Given the description of an element on the screen output the (x, y) to click on. 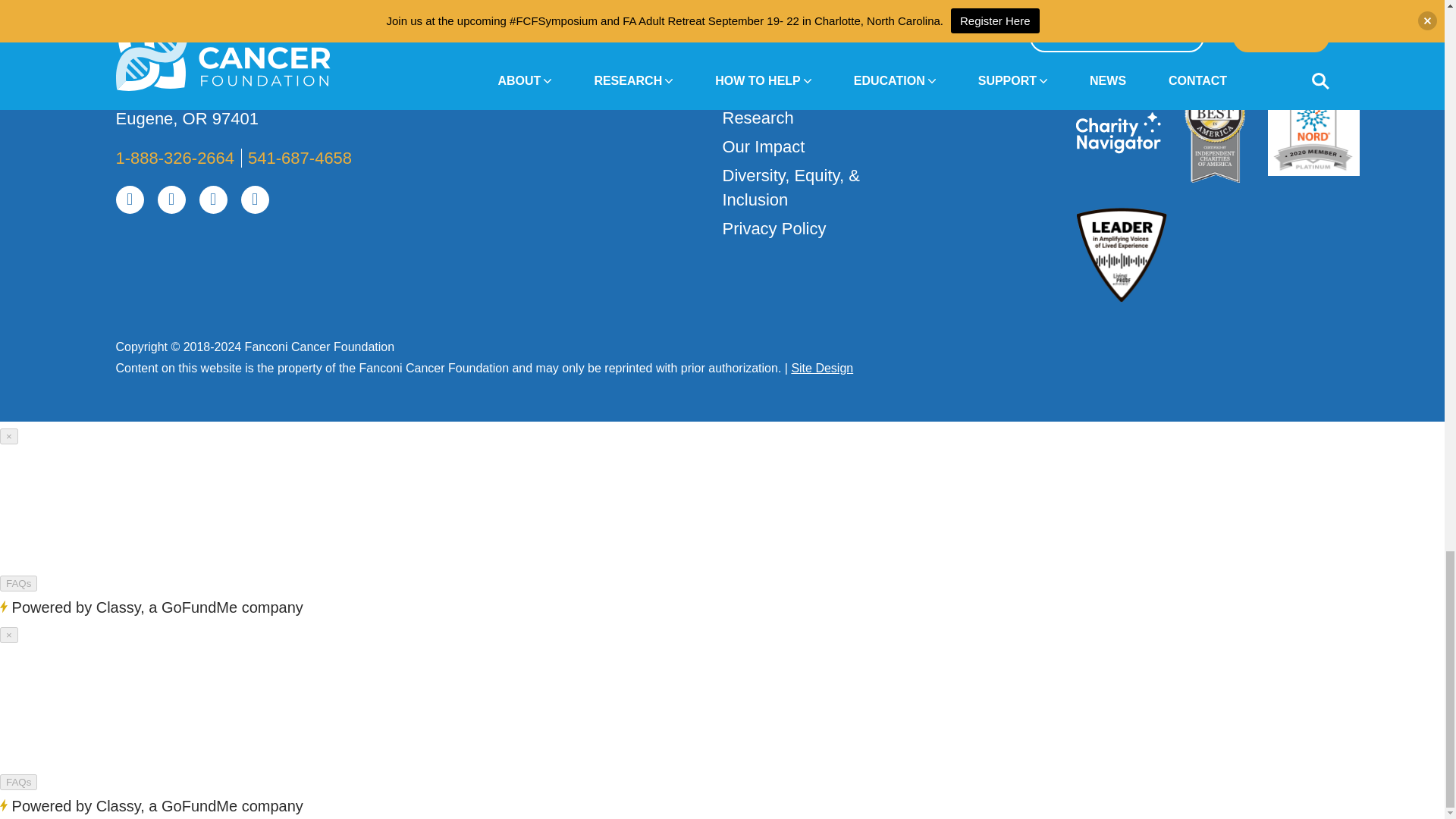
Fanconi Cancer Foundation (308, 34)
